Given the description of an element on the screen output the (x, y) to click on. 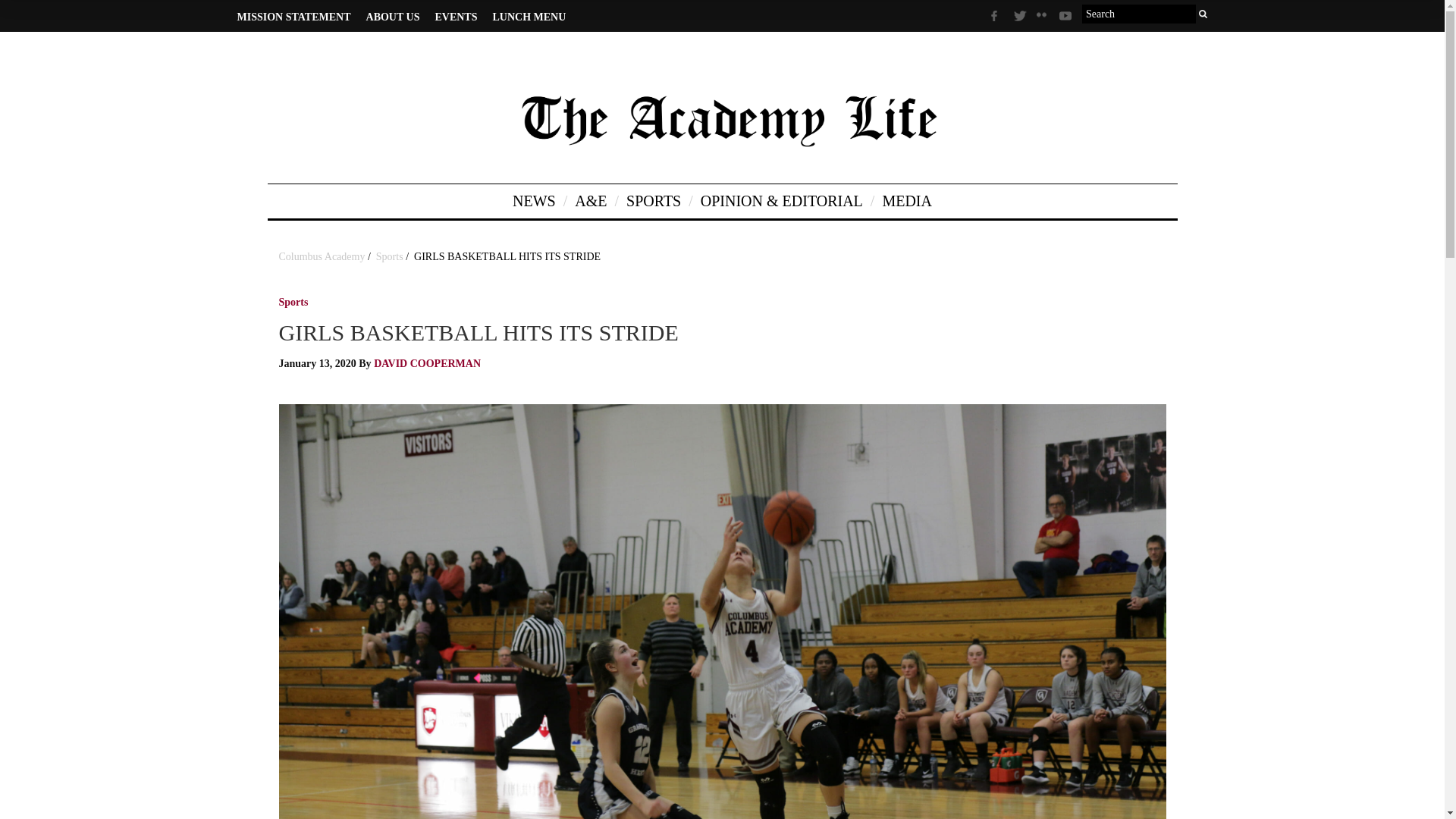
Events (95, 309)
SPORTS (98, 106)
Facebook (46, 431)
FLICKR (1043, 19)
EVENTS (455, 16)
MISSION STATEMENT (292, 16)
 View all posts in Sports (293, 305)
NEWS (98, 38)
TWITTER (1021, 17)
ABOUT US (393, 16)
Mission Statement (95, 253)
FACEBOOK (998, 17)
Lunch Menu (95, 338)
LUNCH MENU (529, 16)
YOUTUBE (1066, 17)
